Given the description of an element on the screen output the (x, y) to click on. 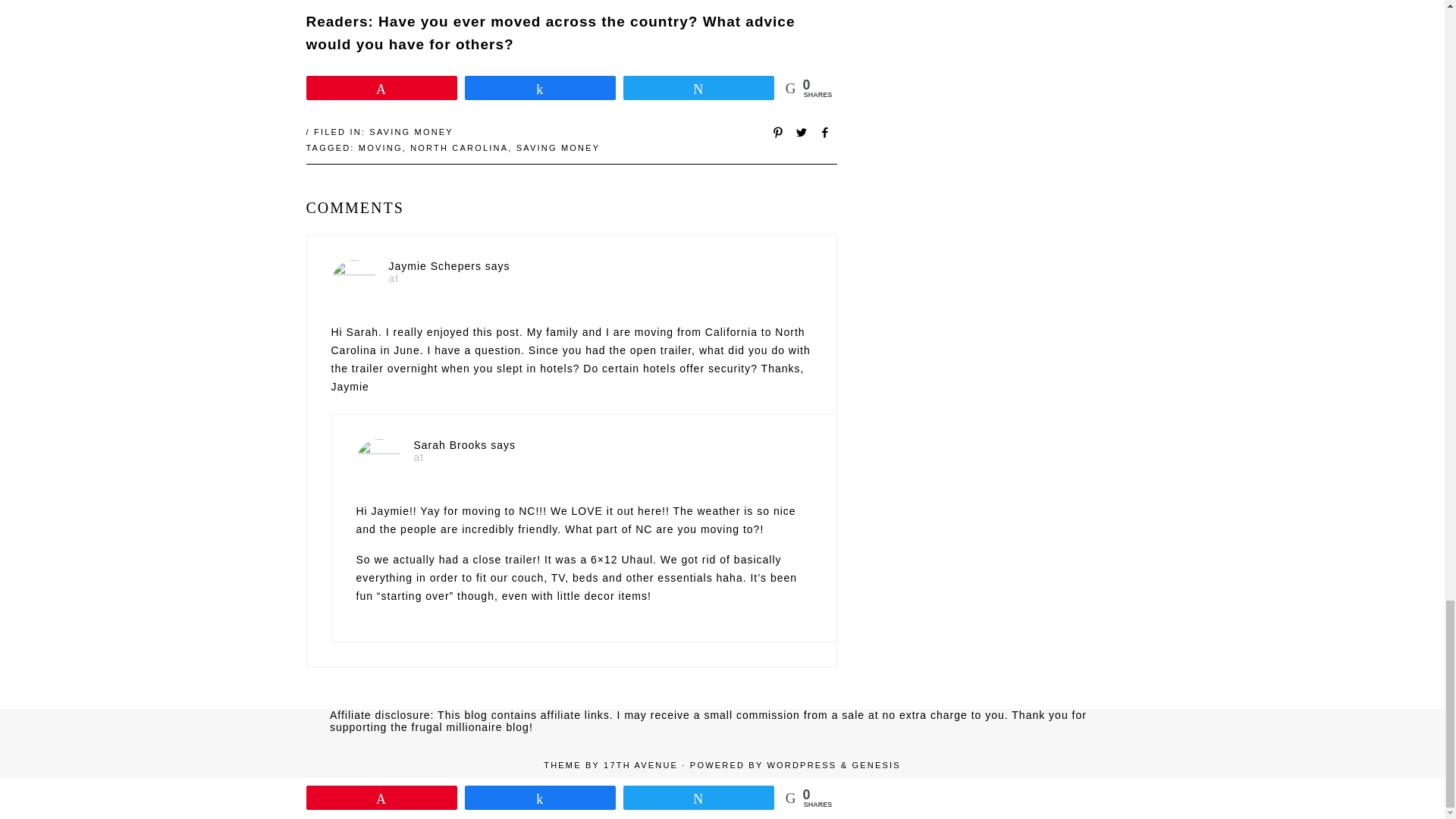
SAVING MONEY (410, 131)
SAVING MONEY (557, 147)
NORTH CAROLINA (459, 147)
17TH AVENUE (641, 764)
MOVING (380, 147)
WORDPRESS (801, 764)
GENESIS (875, 764)
